Given the description of an element on the screen output the (x, y) to click on. 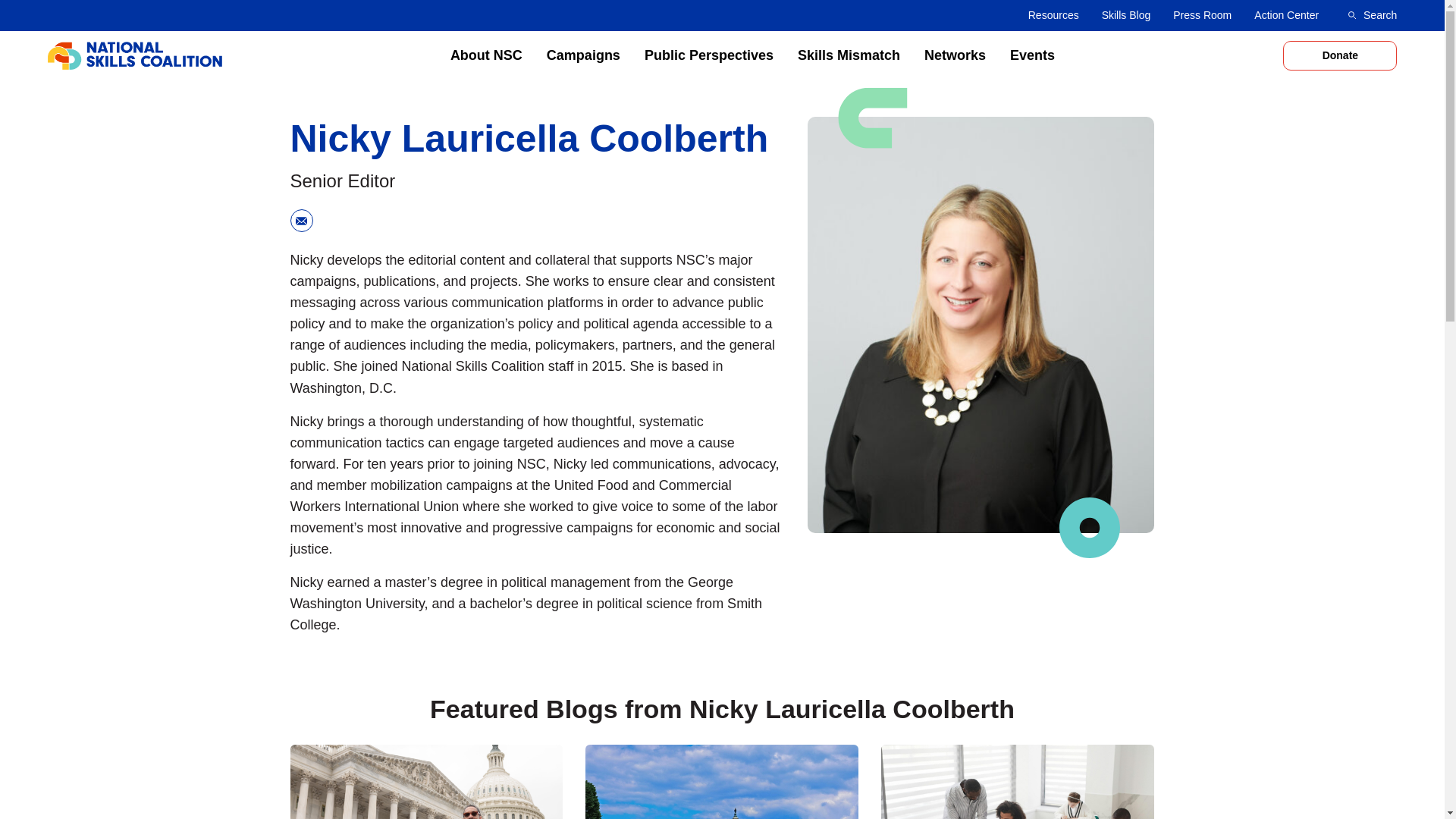
Public Perspectives (709, 55)
Action Center (1286, 15)
Skills Blog (1125, 15)
Networks (954, 55)
Events (1032, 55)
Search (1372, 15)
Donate (1339, 55)
circle (1089, 527)
About NSC (485, 55)
semi-hook (872, 117)
Skills Mismatch (848, 55)
Campaigns (583, 55)
Resources (1053, 15)
Press Room (1202, 15)
